Given the description of an element on the screen output the (x, y) to click on. 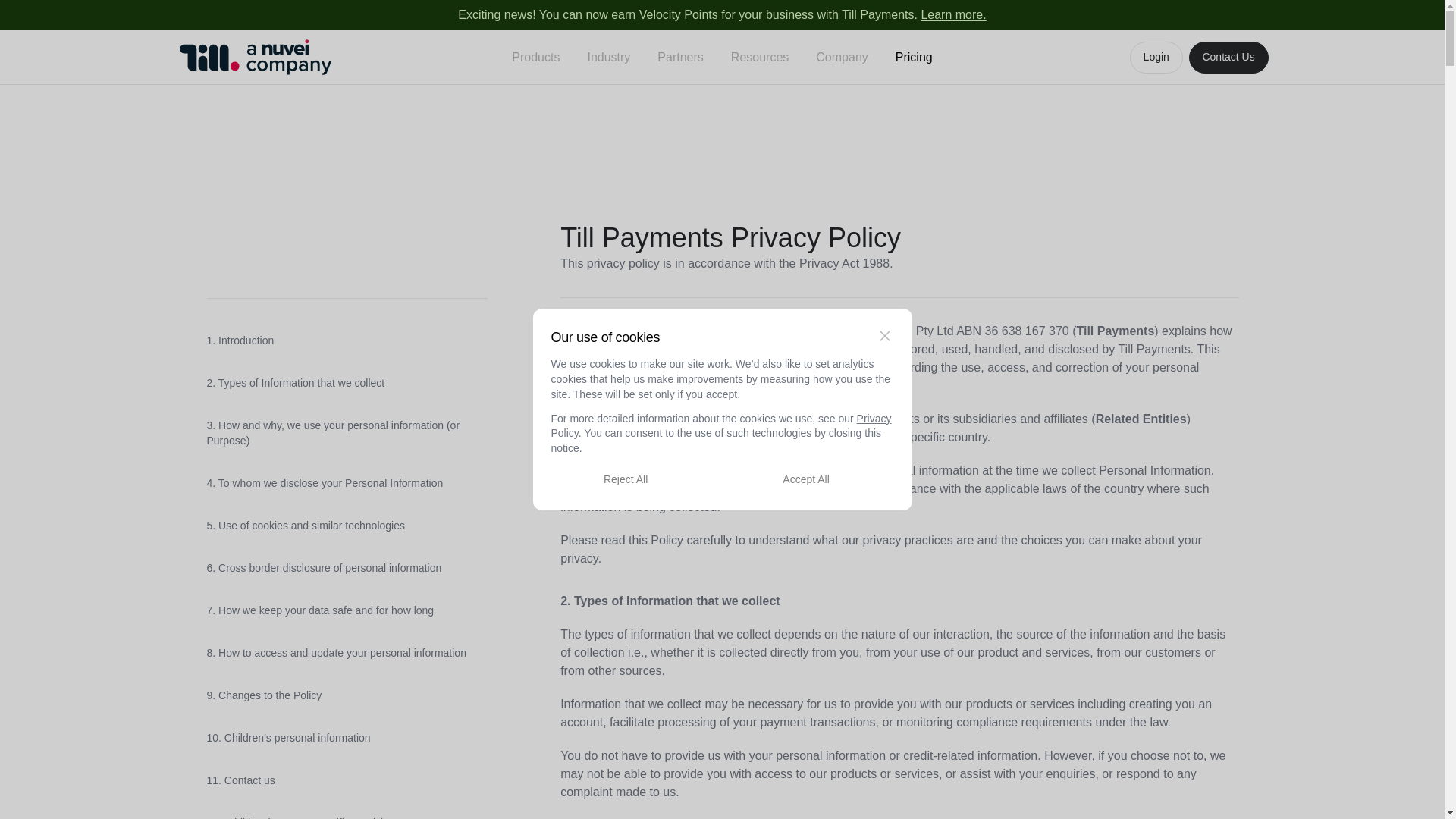
Login (1155, 56)
Products (535, 57)
Learn more. (952, 14)
2. Types of Information that we collect (346, 383)
Resources (759, 57)
Accept All (806, 479)
Company (841, 57)
Privacy Policy (720, 425)
Partners (679, 57)
1. Introduction (346, 340)
Contact Us (1228, 56)
Pricing (914, 57)
Reject All (625, 479)
Industry (608, 57)
